Given the description of an element on the screen output the (x, y) to click on. 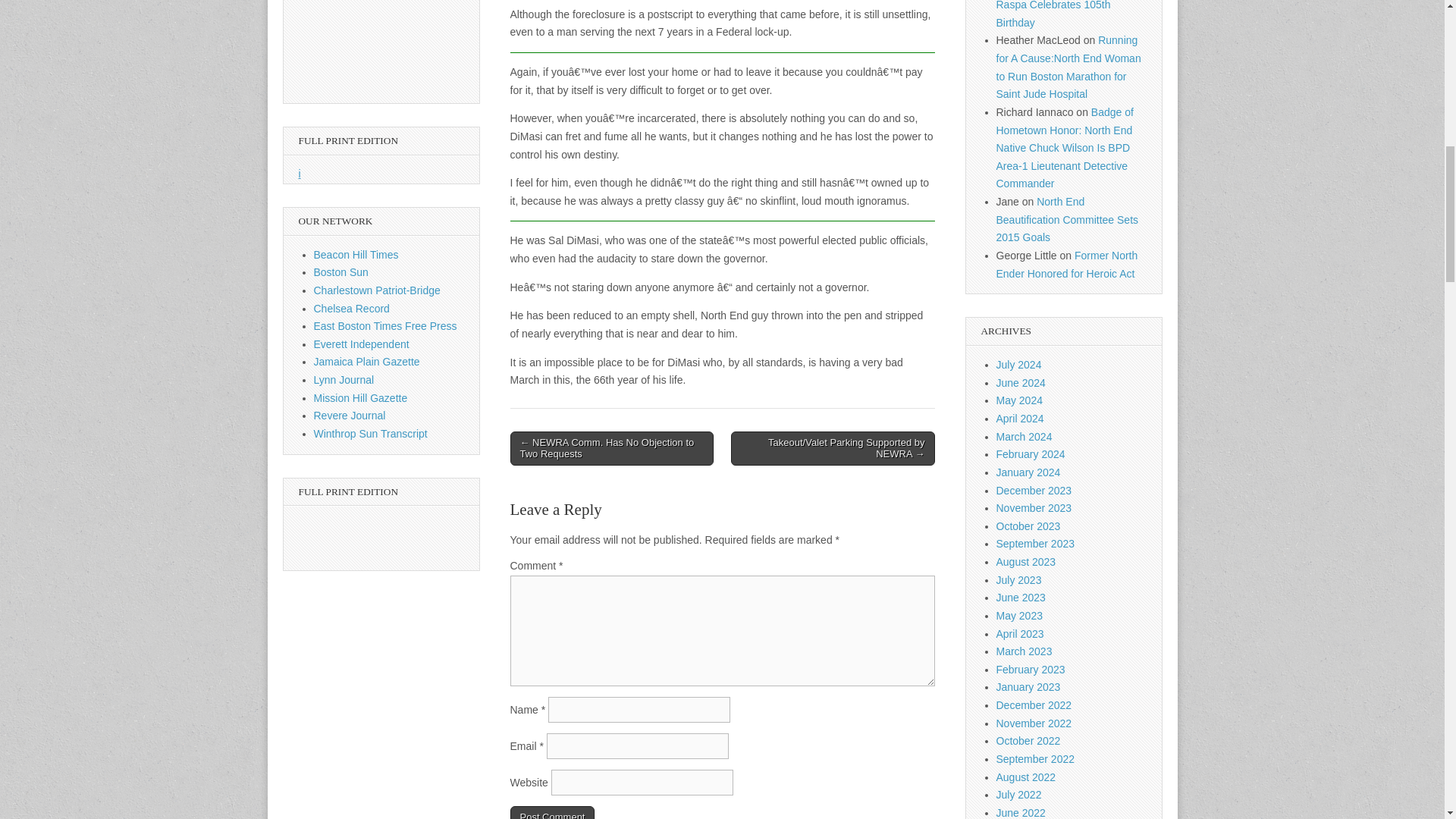
Charlestown Patriot-Bridge (377, 290)
Post Comment (551, 812)
Post Comment (551, 812)
East Boston Times Free Press (385, 326)
Chelsea Record (352, 308)
Jamaica Plain Gazette (367, 361)
Mission Hill Gazette (360, 398)
Boston Sun (341, 272)
Everett Independent (361, 344)
i (299, 173)
Lynn Journal (344, 379)
Beacon Hill Times (356, 254)
